Given the description of an element on the screen output the (x, y) to click on. 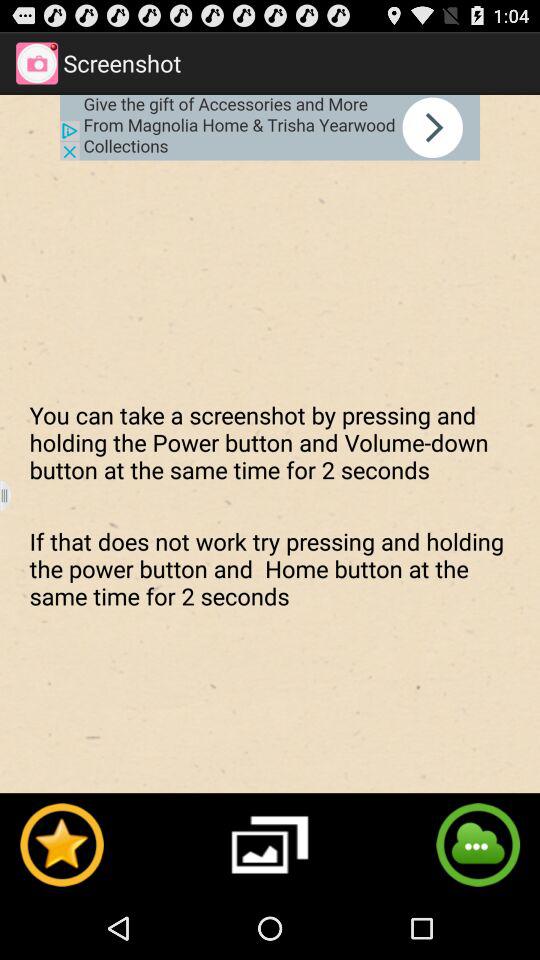
go to favorites (61, 844)
